Given the description of an element on the screen output the (x, y) to click on. 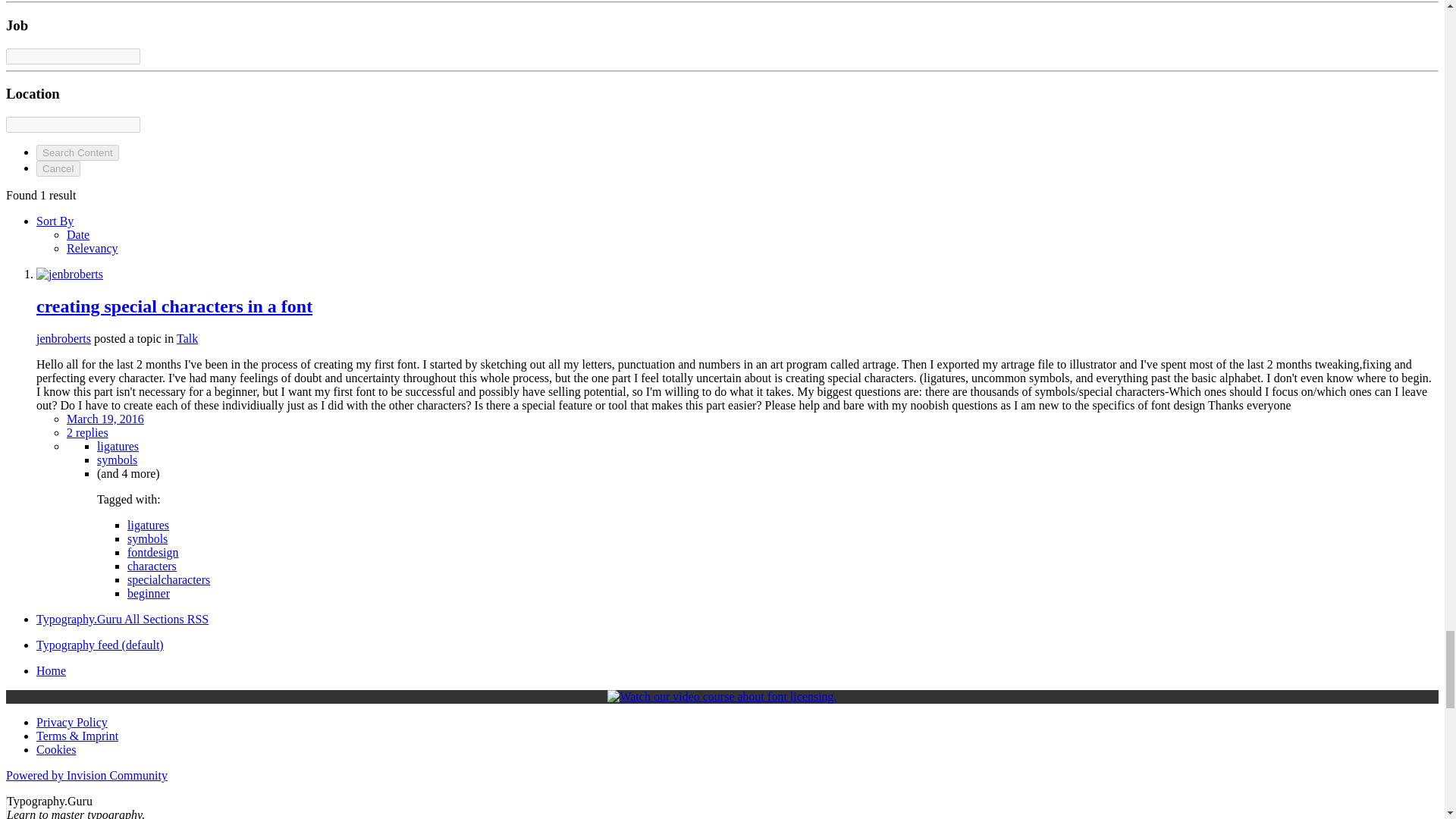
Find other content tagged with 'characters' (152, 565)
Go to jenbroberts's profile (63, 338)
Find other content tagged with 'symbols' (116, 459)
Find other content tagged with 'fontdesign' (153, 552)
Go to jenbroberts's profile (69, 273)
Find other content tagged with 'ligatures' (148, 524)
Find other content tagged with 'symbols' (147, 538)
Typography.Guru All Sections RSS (122, 618)
Find other content tagged with 'ligatures' (117, 445)
Find other content tagged with 'specialcharacters' (168, 579)
Find other content tagged with 'beginner' (149, 593)
